Given the description of an element on the screen output the (x, y) to click on. 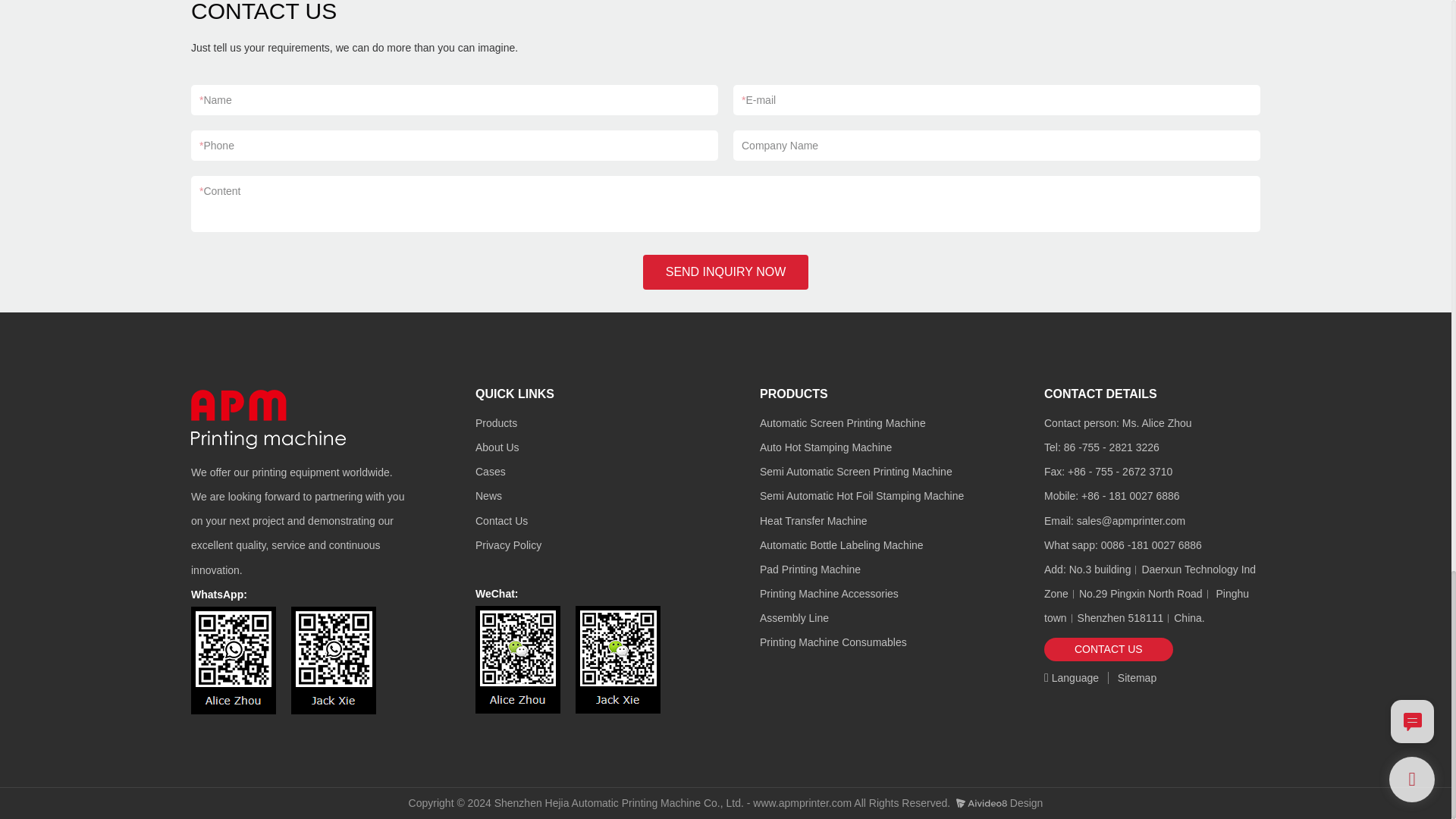
Products (496, 422)
SEND INQUIRY NOW (726, 271)
Privacy Policy (508, 544)
Automatic Screen Printing Machine (843, 422)
Cases (490, 471)
Contact Us (501, 521)
News (489, 495)
About Us (497, 447)
Auto Hot Stamping Machine (825, 447)
